Given the description of an element on the screen output the (x, y) to click on. 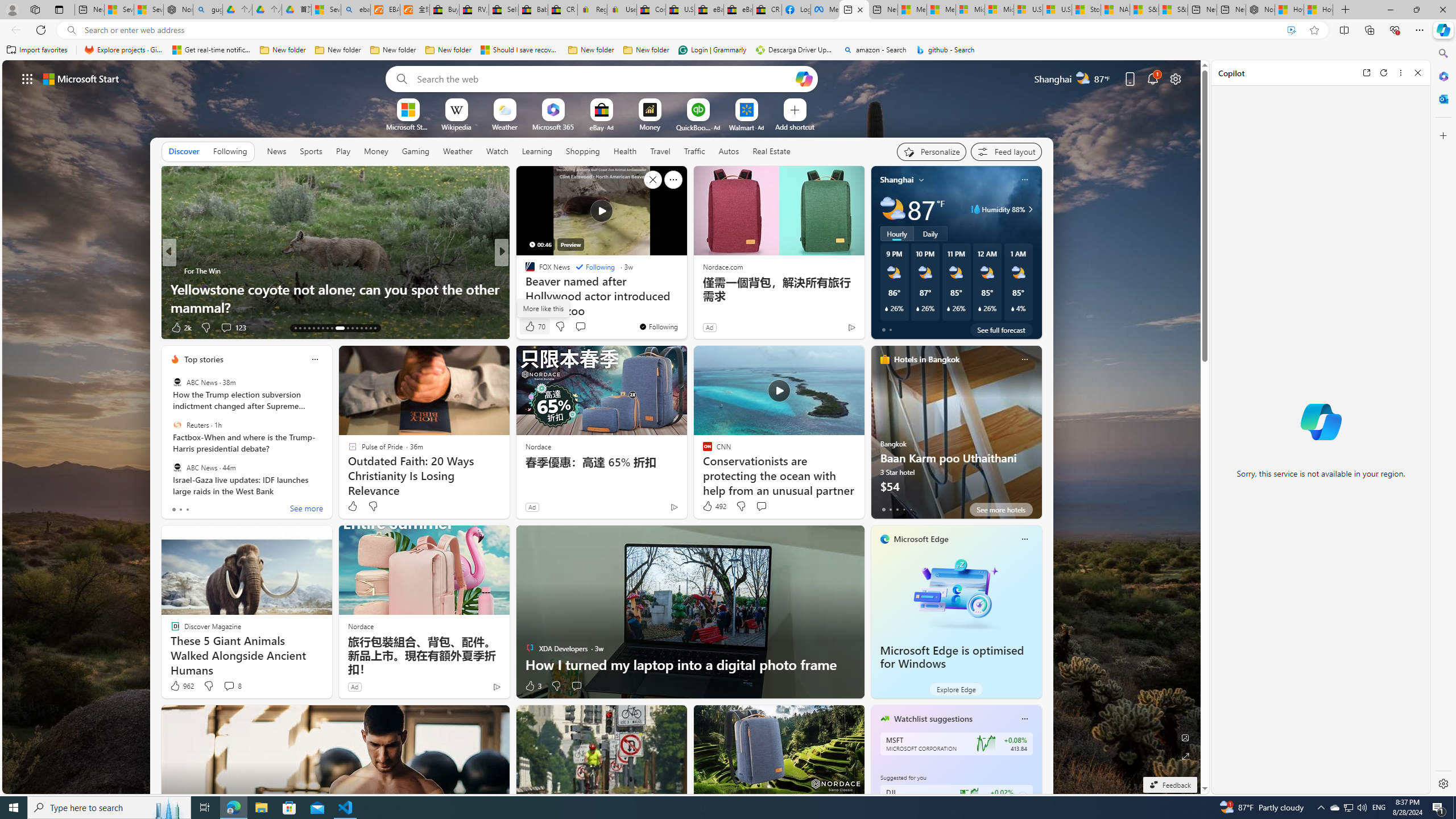
How To Start Windows In Safe Mode (684, 307)
Partly cloudy (892, 208)
AutomationID: tab-17 (313, 328)
See more hotels (1000, 509)
Register: Create a personal eBay account (591, 9)
